Given the description of an element on the screen output the (x, y) to click on. 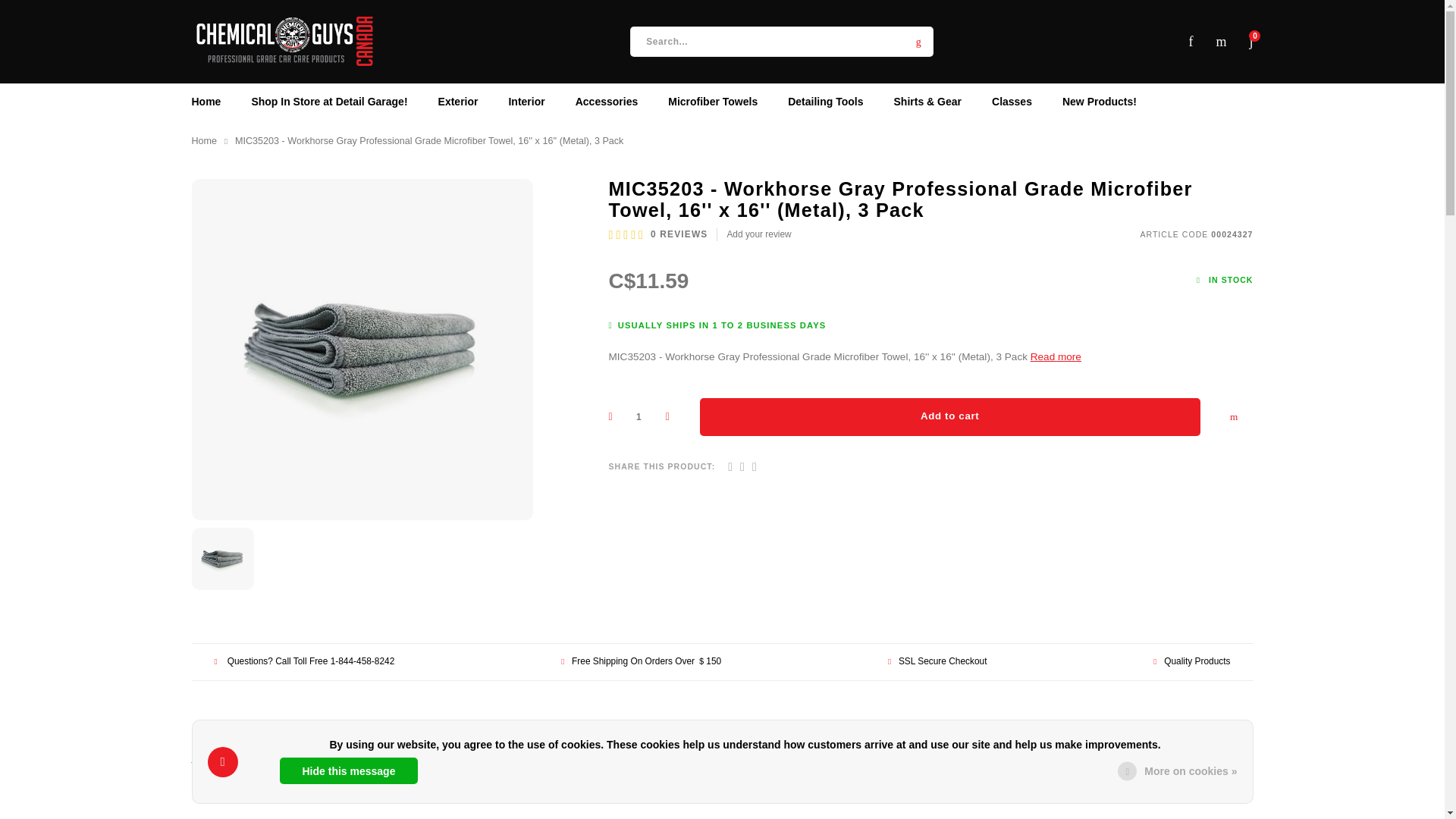
Home (203, 141)
Search (917, 41)
Add to cart (949, 416)
Add to wishlist (1233, 416)
1 (639, 416)
